Given the description of an element on the screen output the (x, y) to click on. 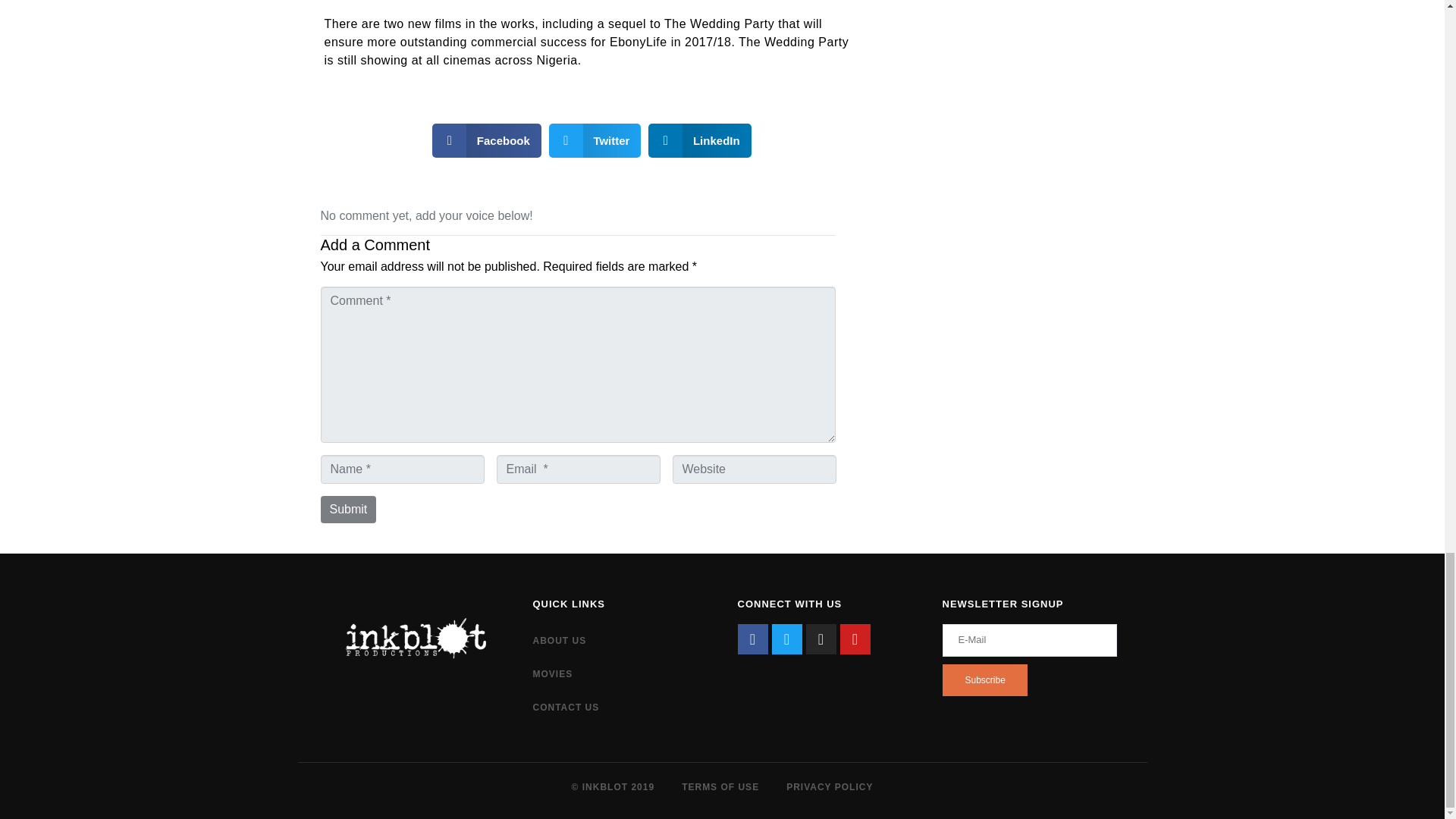
CONTACT US (619, 707)
Subscribe (984, 680)
PRIVACY POLICY (829, 786)
ABOUT US (619, 640)
MOVIES (619, 674)
TERMS OF USE (719, 786)
Submit (347, 509)
